Given the description of an element on the screen output the (x, y) to click on. 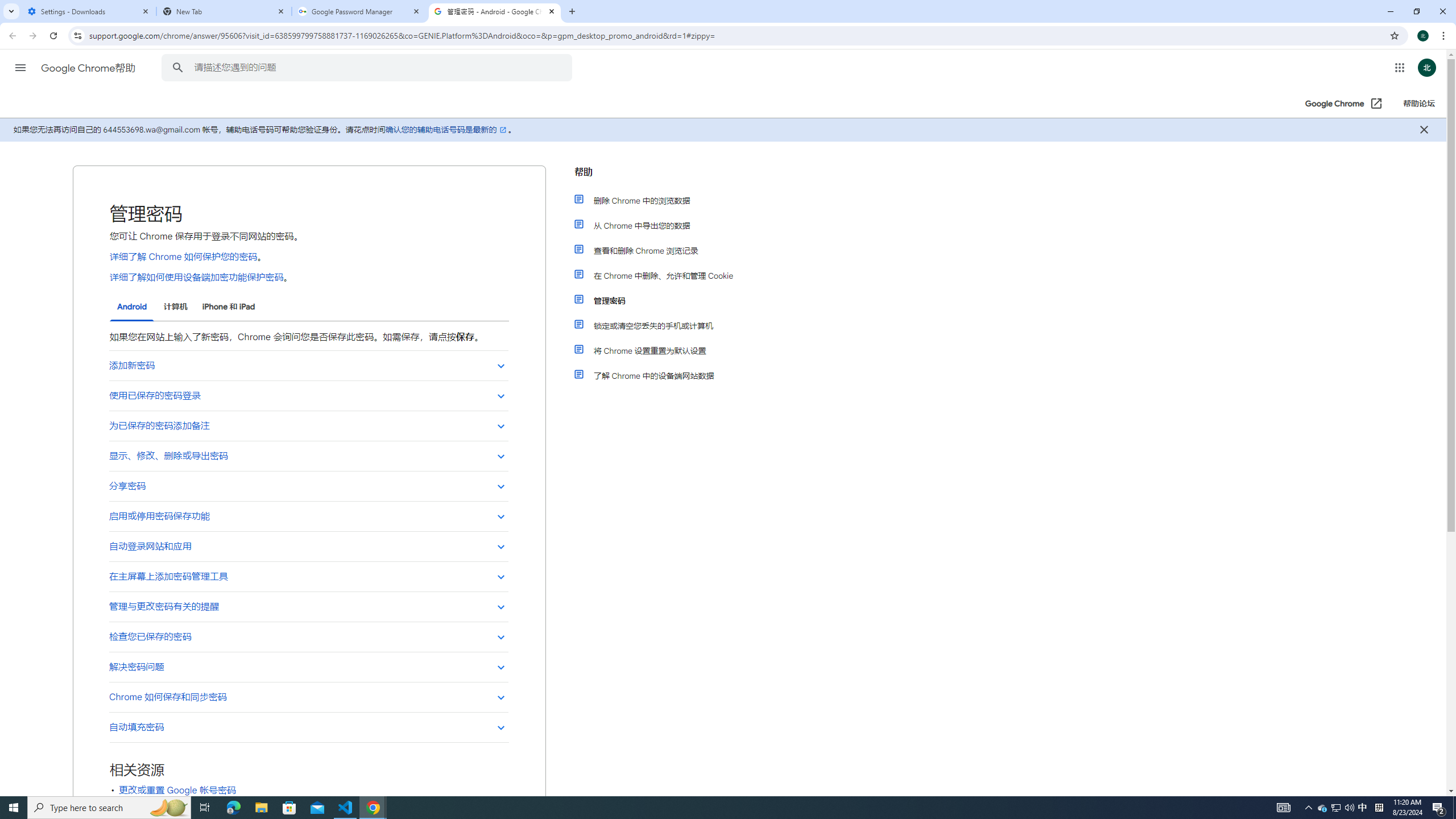
New Tab (224, 11)
